Given the description of an element on the screen output the (x, y) to click on. 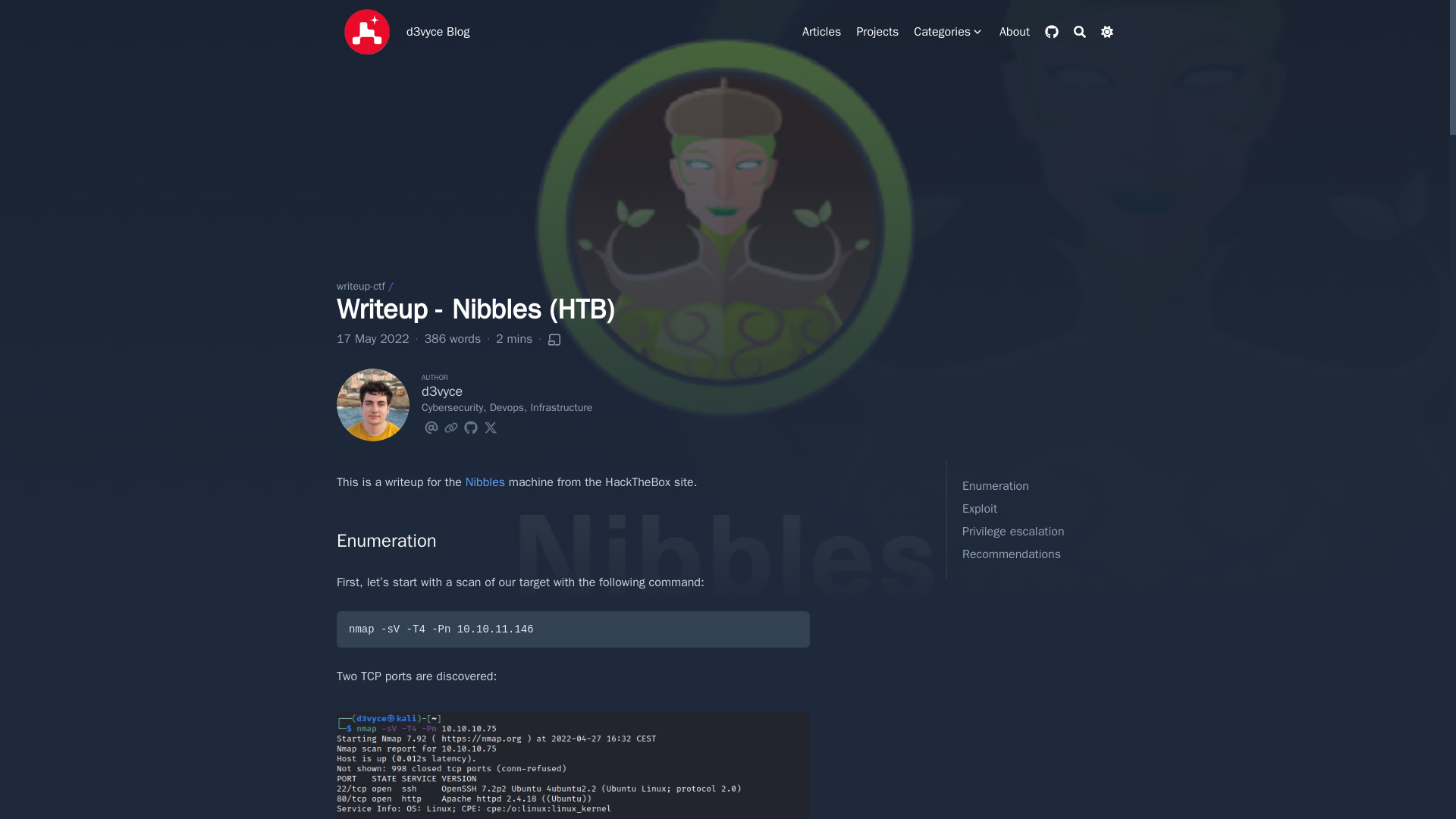
Articles (821, 31)
writeup-ctf (360, 286)
d3vyce Blog (437, 31)
d3vyce Blog (366, 31)
Projects (877, 31)
